Given the description of an element on the screen output the (x, y) to click on. 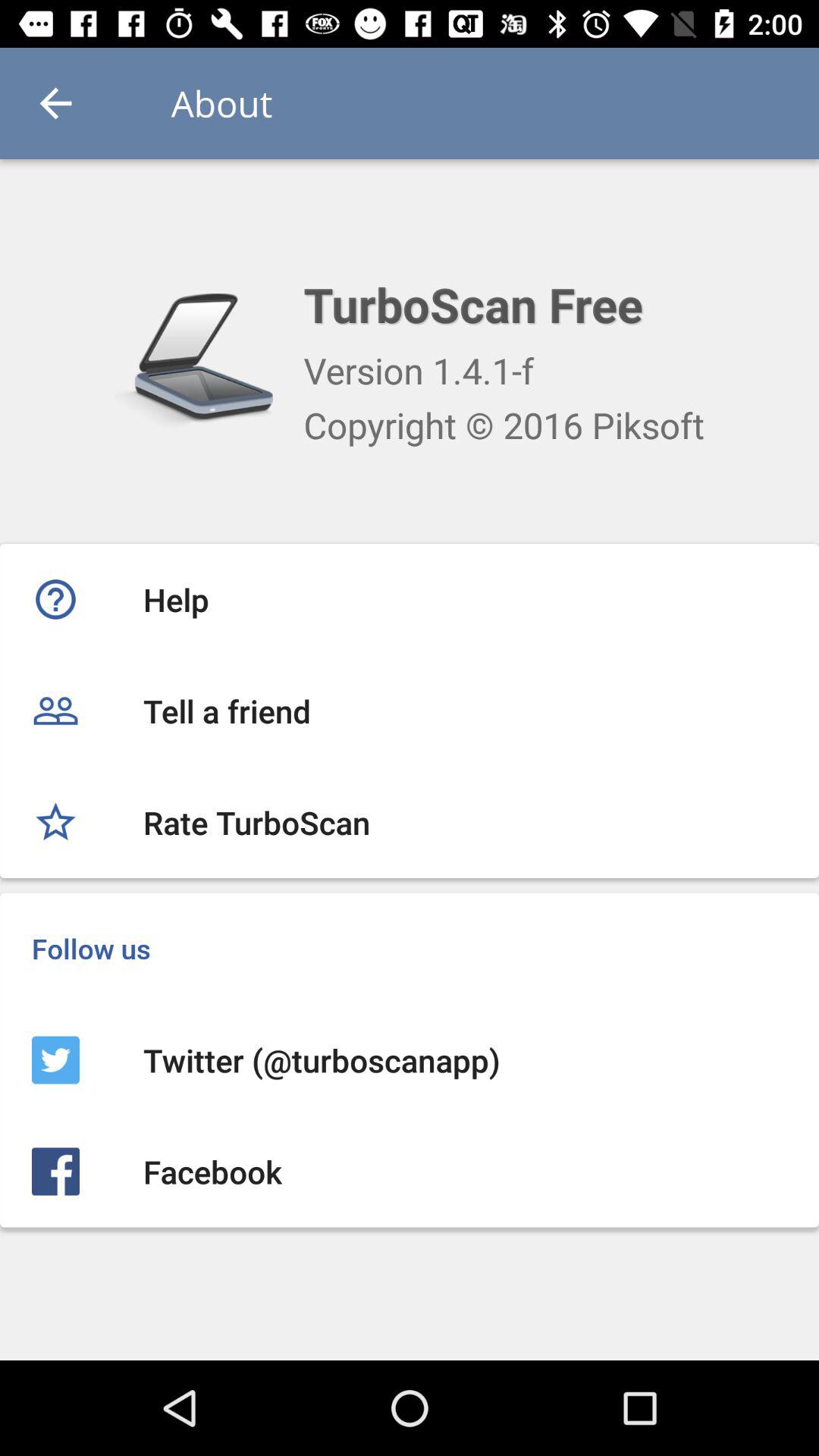
turn off icon above the follow us (409, 822)
